Given the description of an element on the screen output the (x, y) to click on. 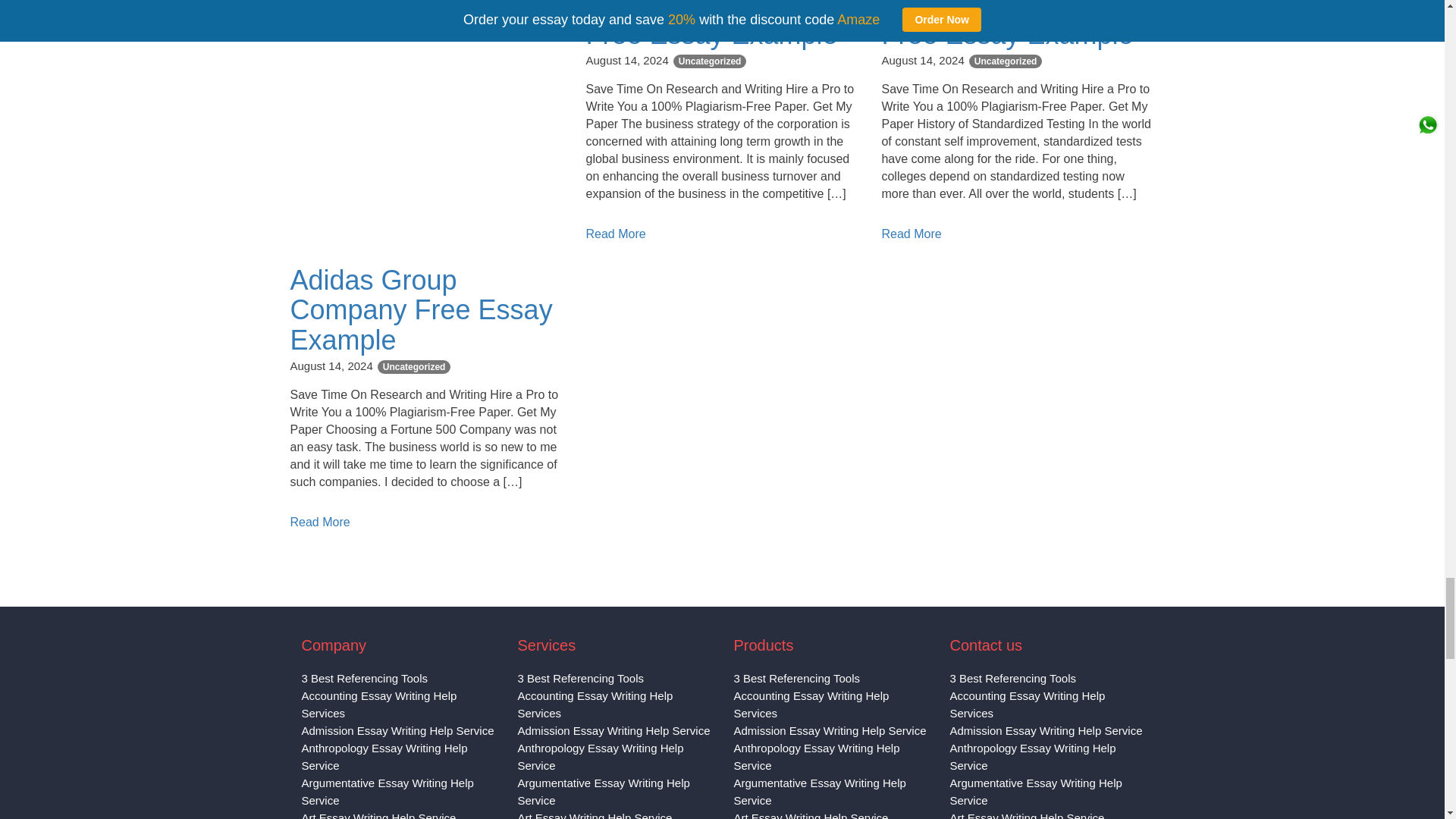
History of Standardized Testing Free Essay Example (1007, 24)
Read More (615, 233)
Uncategorized (709, 60)
Comair Airlines Business Strategy Free Essay Example (711, 24)
